Given the description of an element on the screen output the (x, y) to click on. 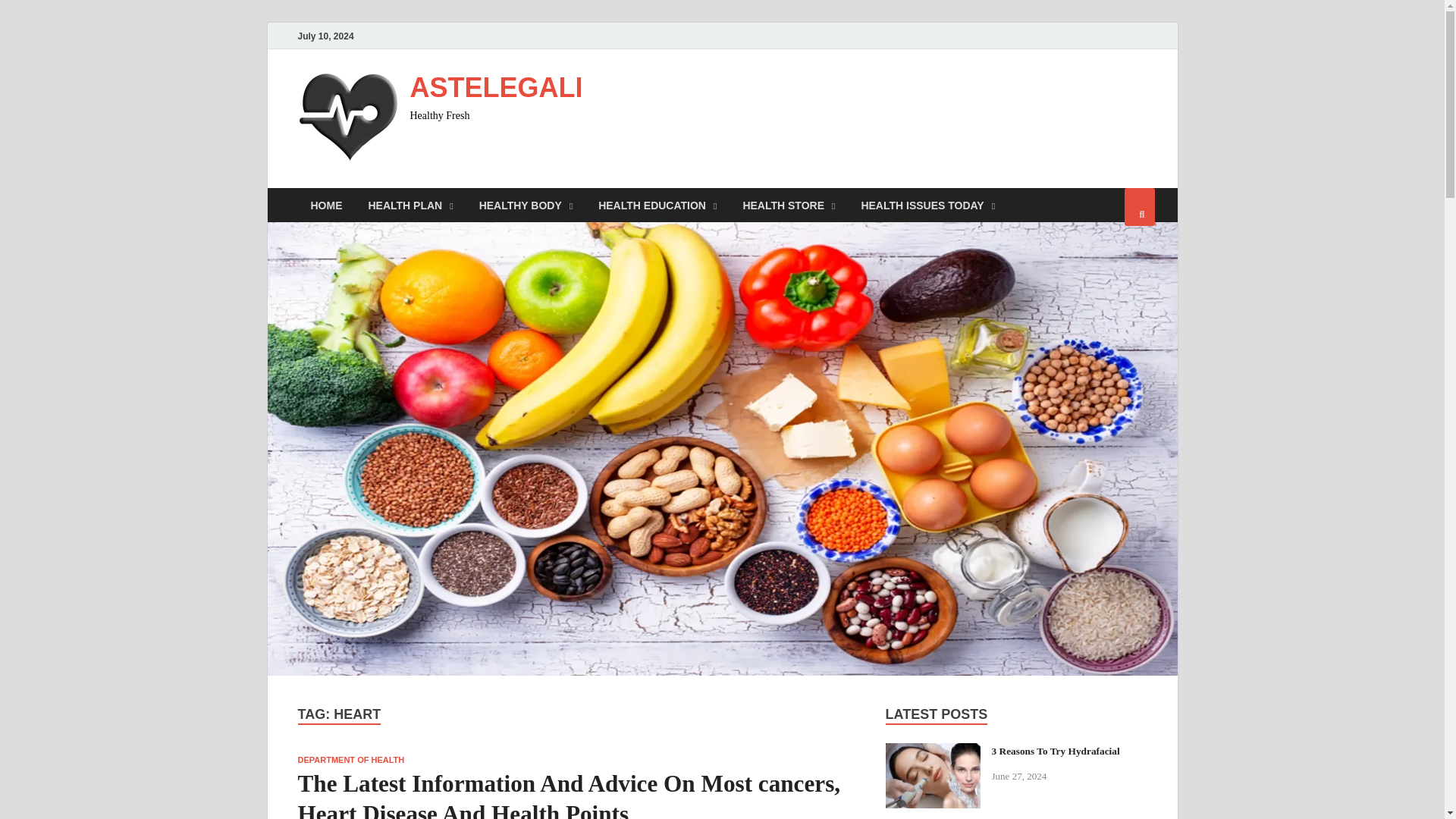
HEALTH STORE (788, 204)
3 Reasons To Try Hydrafacial (932, 752)
HEALTH PLAN (410, 204)
HOME (326, 204)
HEALTH EDUCATION (657, 204)
HEALTHY BODY (525, 204)
HEALTH ISSUES TODAY (927, 204)
ASTELEGALI (495, 87)
